Given the description of an element on the screen output the (x, y) to click on. 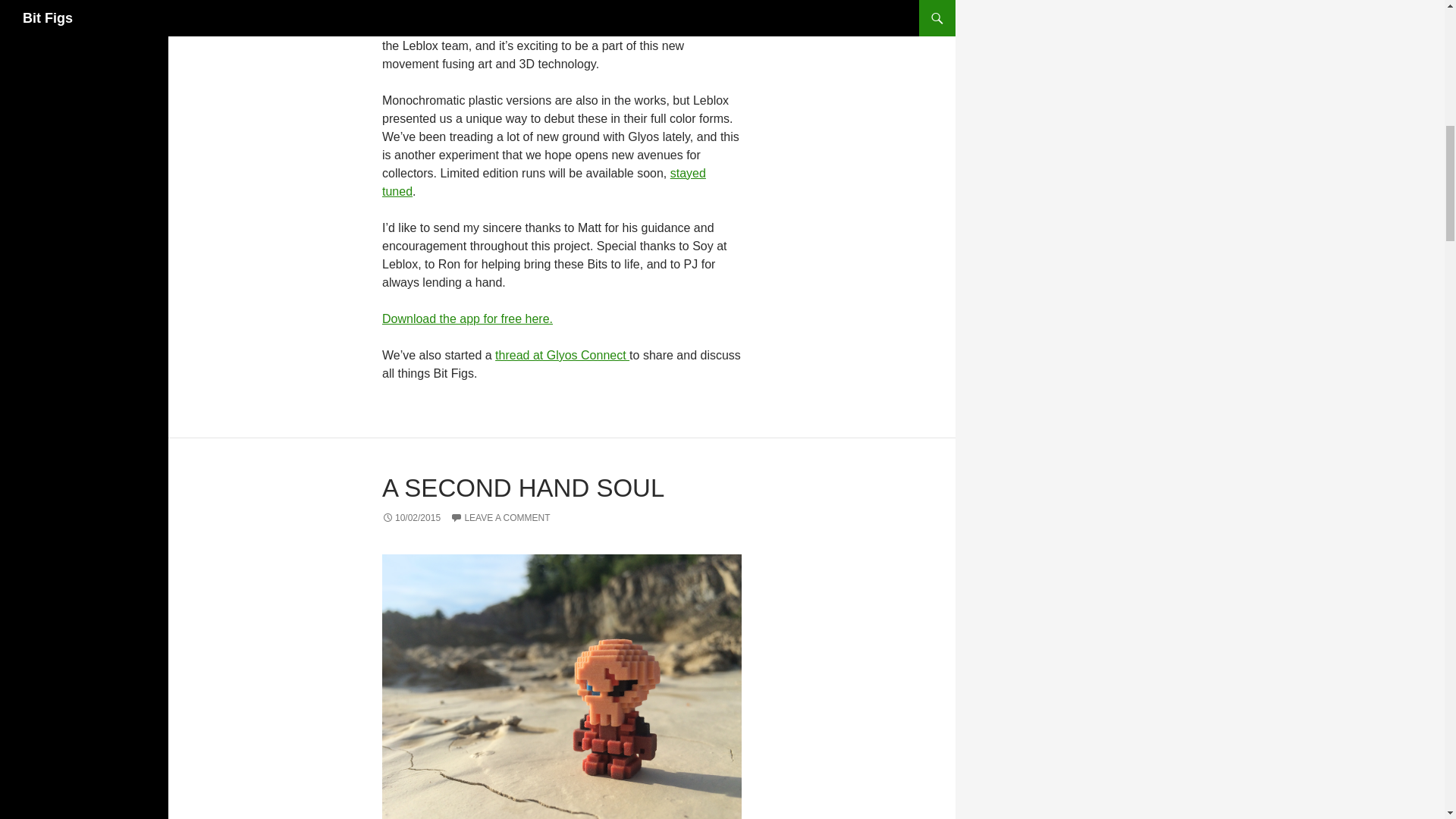
stayed tuned (543, 182)
LEAVE A COMMENT (499, 517)
A SECOND HAND SOUL (522, 488)
Download the app for free here. (467, 318)
thread at Glyos Connect (561, 354)
